Given the description of an element on the screen output the (x, y) to click on. 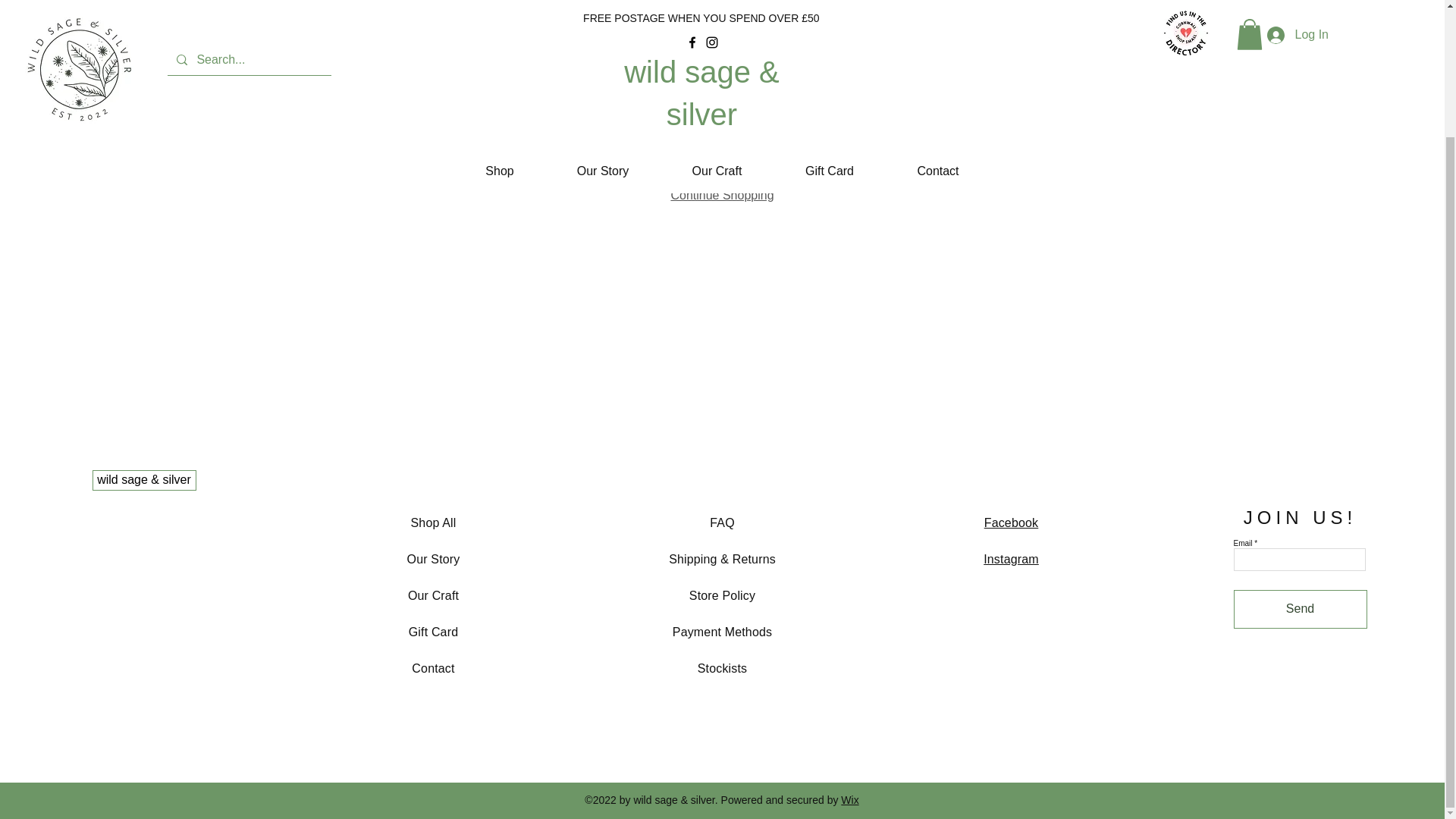
Stockists (721, 667)
Store Policy (721, 594)
Gift Card (829, 18)
Shop All (433, 522)
Continue Shopping (721, 195)
Wix (1011, 540)
Our Story (850, 799)
Our Craft (433, 558)
Send (716, 18)
